Given the description of an element on the screen output the (x, y) to click on. 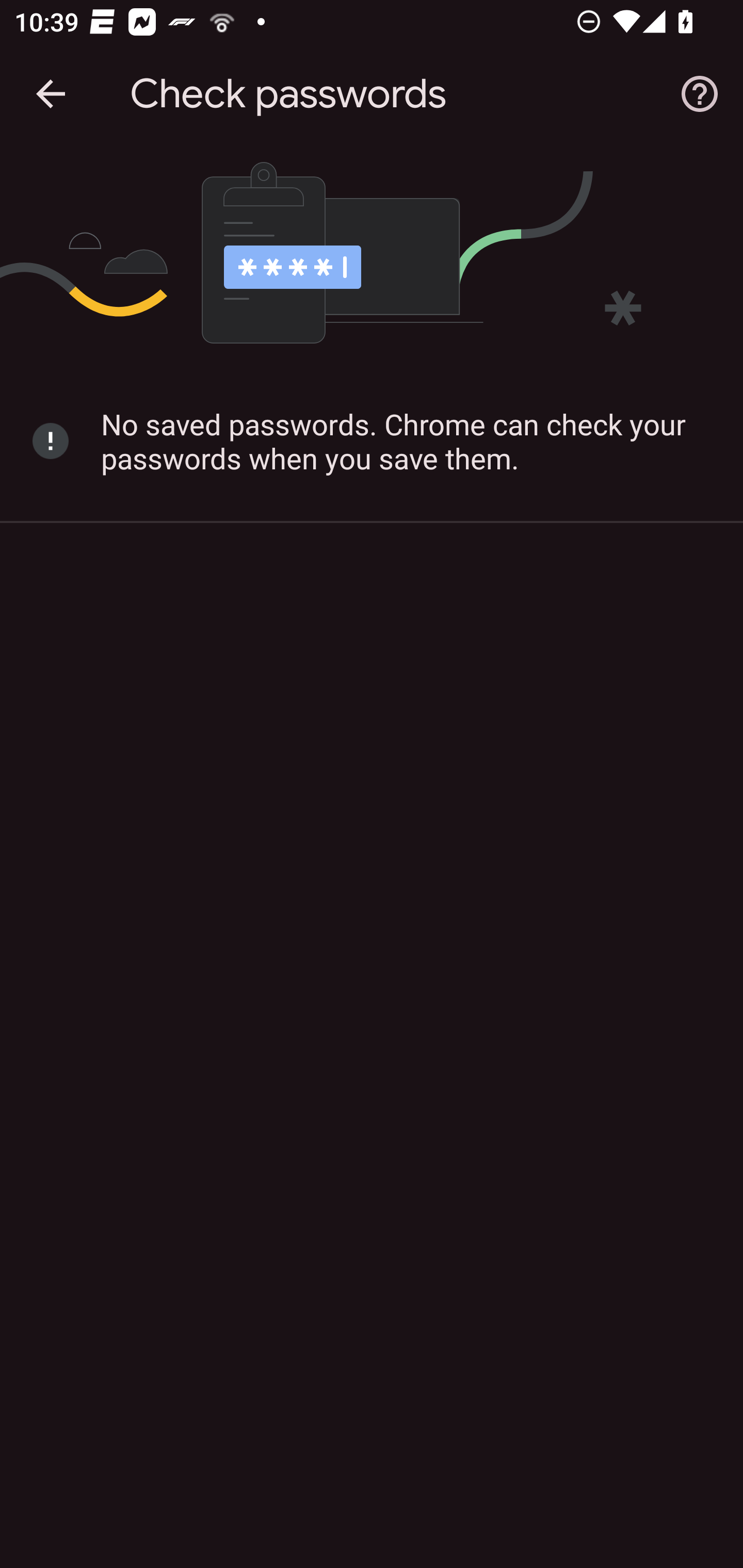
Navigate up (50, 93)
Help & feedback (699, 93)
